Given the description of an element on the screen output the (x, y) to click on. 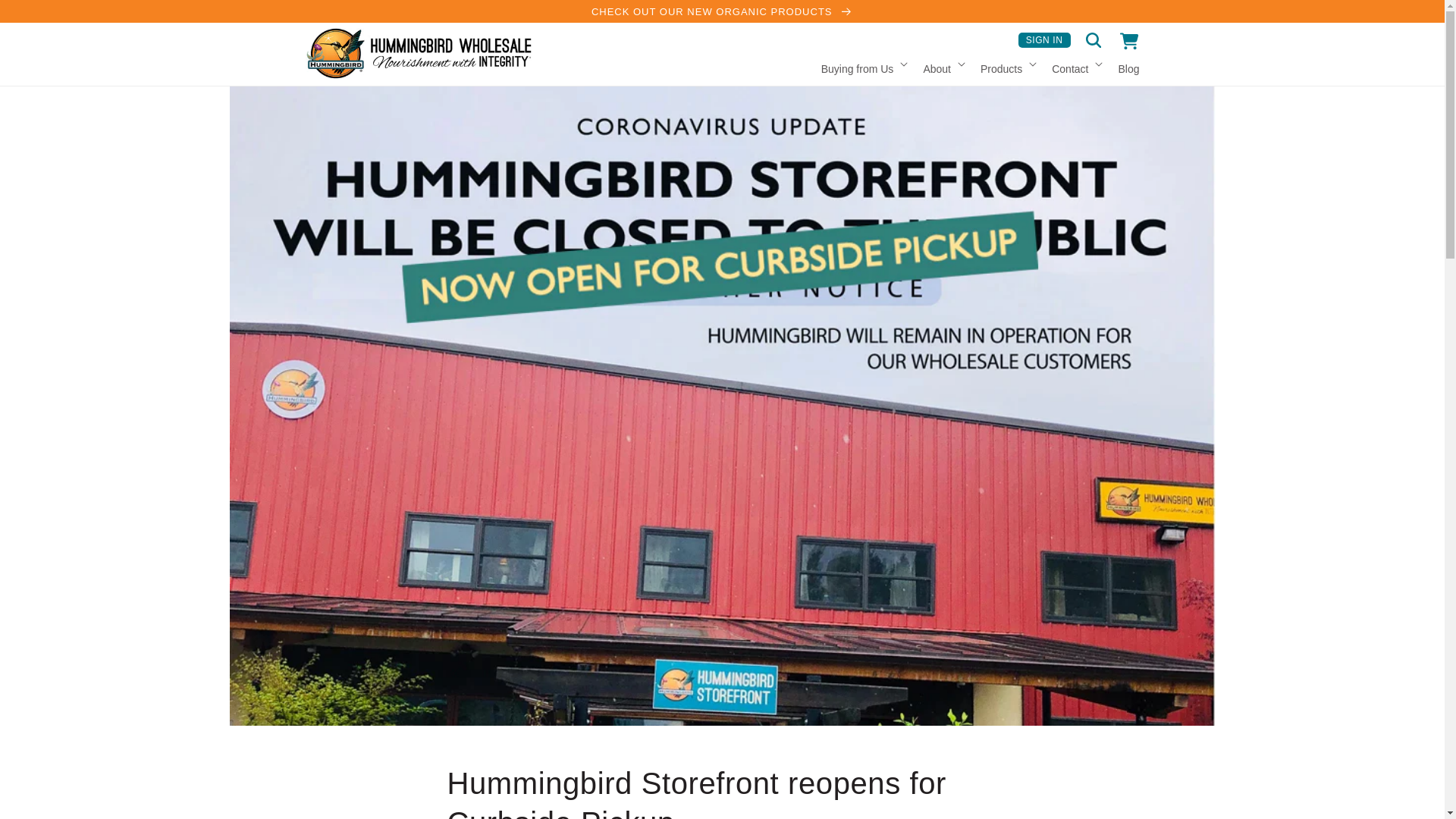
Skip to content (45, 17)
